Given the description of an element on the screen output the (x, y) to click on. 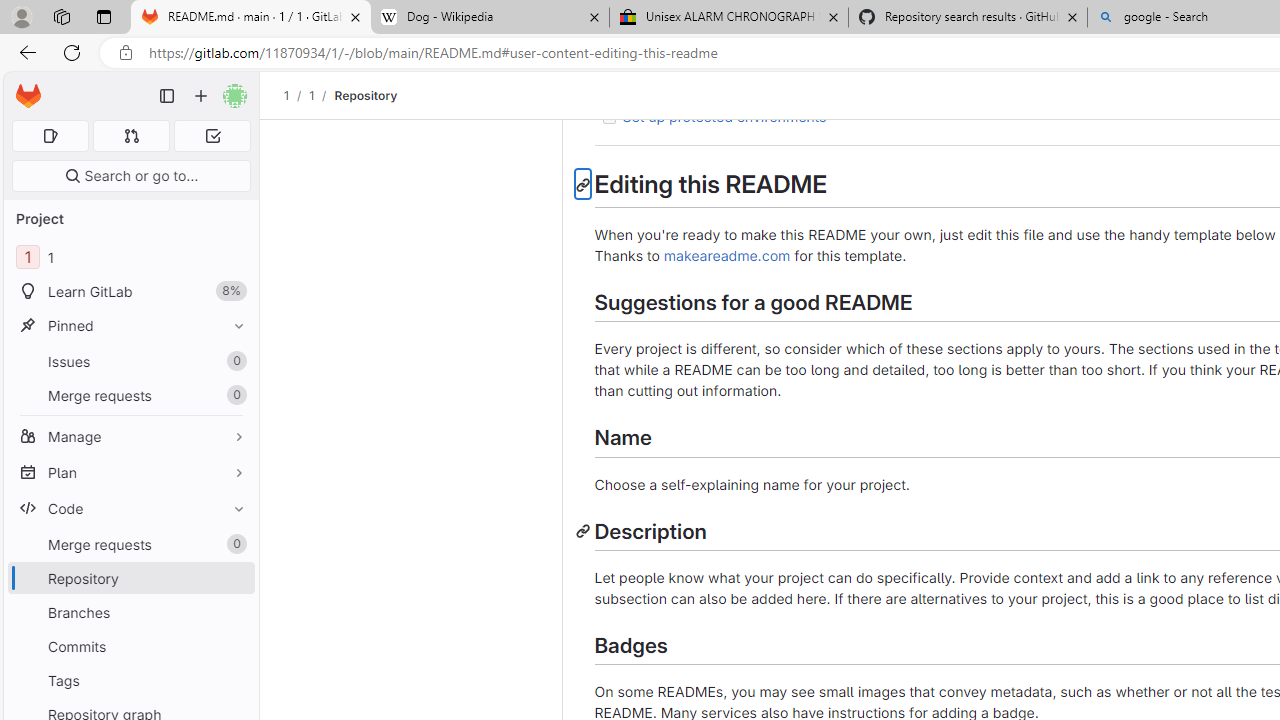
Homepage (27, 96)
makeareadme.com (727, 255)
Repository (366, 95)
Pinned (130, 325)
Pin Tags (234, 680)
Tags (130, 679)
Learn GitLab8% (130, 291)
Set up protected environments (724, 116)
